Given the description of an element on the screen output the (x, y) to click on. 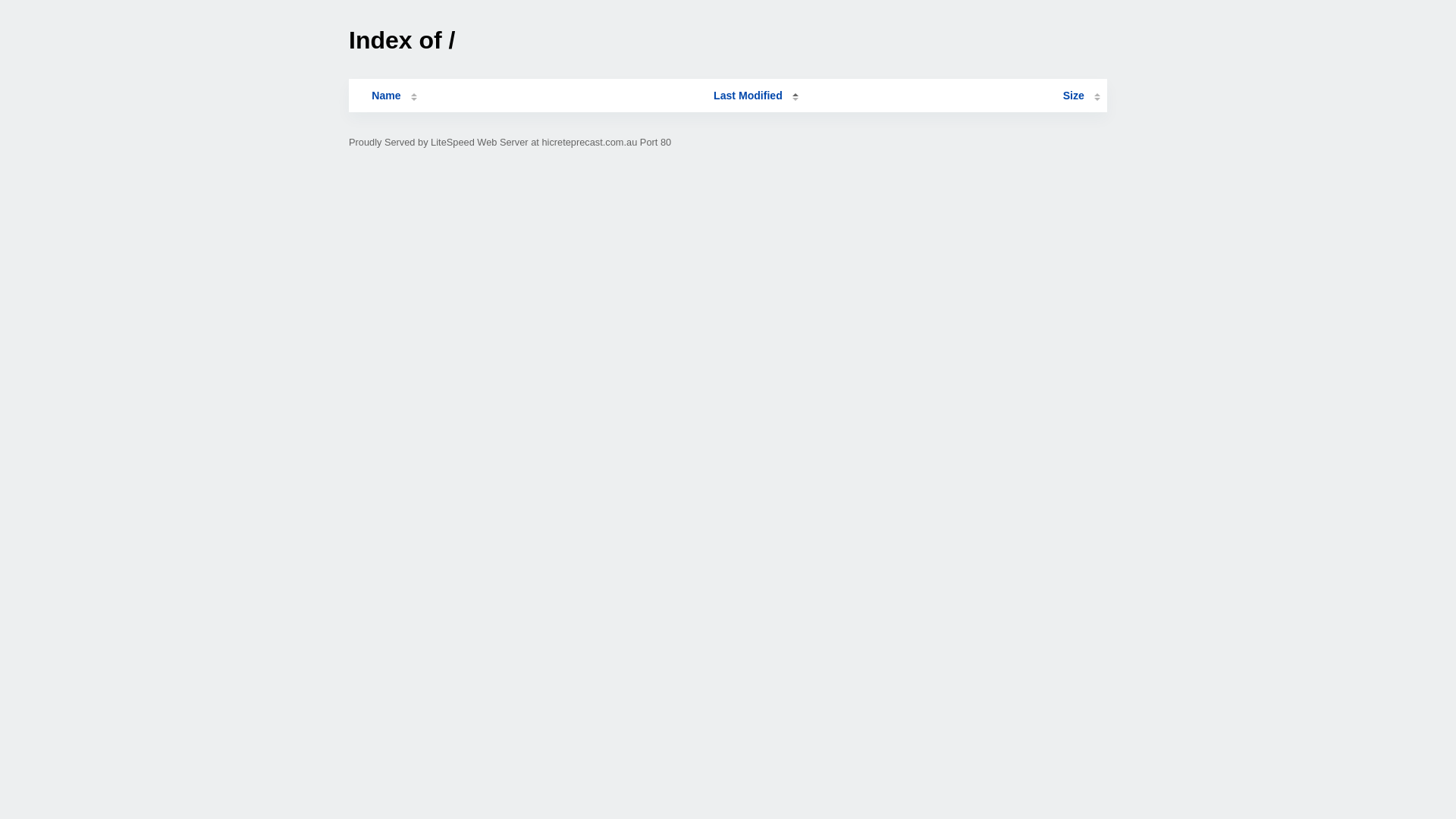
Size Element type: text (1081, 95)
Last Modified Element type: text (755, 95)
Name Element type: text (385, 95)
